Given the description of an element on the screen output the (x, y) to click on. 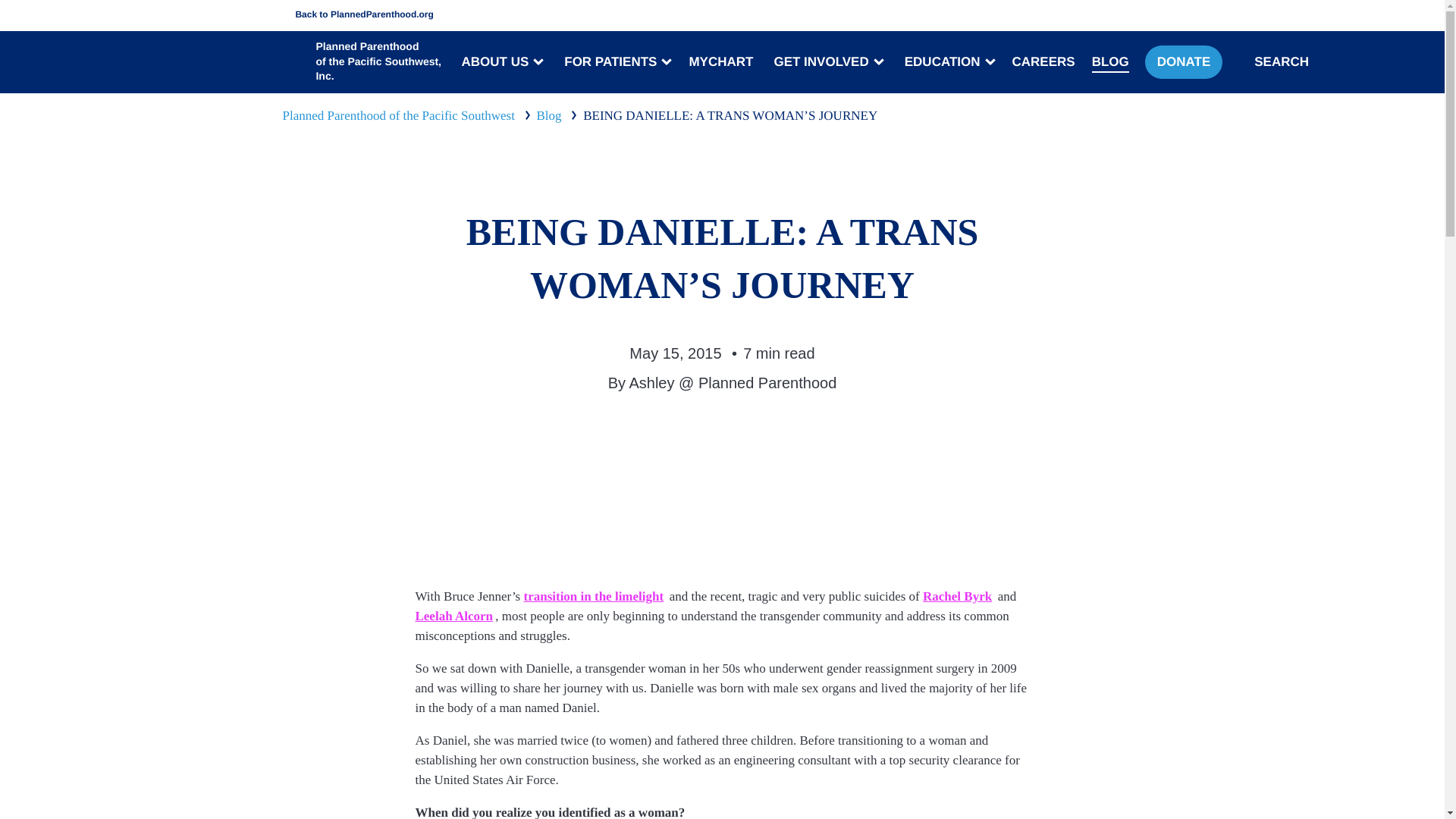
Back to PlannedParenthood.org (355, 15)
FOR PATIENTS (615, 62)
Facebook (721, 436)
OPEN SEARCH (1244, 61)
Twitter (680, 436)
Copy Link (762, 436)
GET INVOLVED (826, 62)
MYCHART (720, 62)
Planned Parenthood (298, 61)
ABOUT US (499, 62)
